Given the description of an element on the screen output the (x, y) to click on. 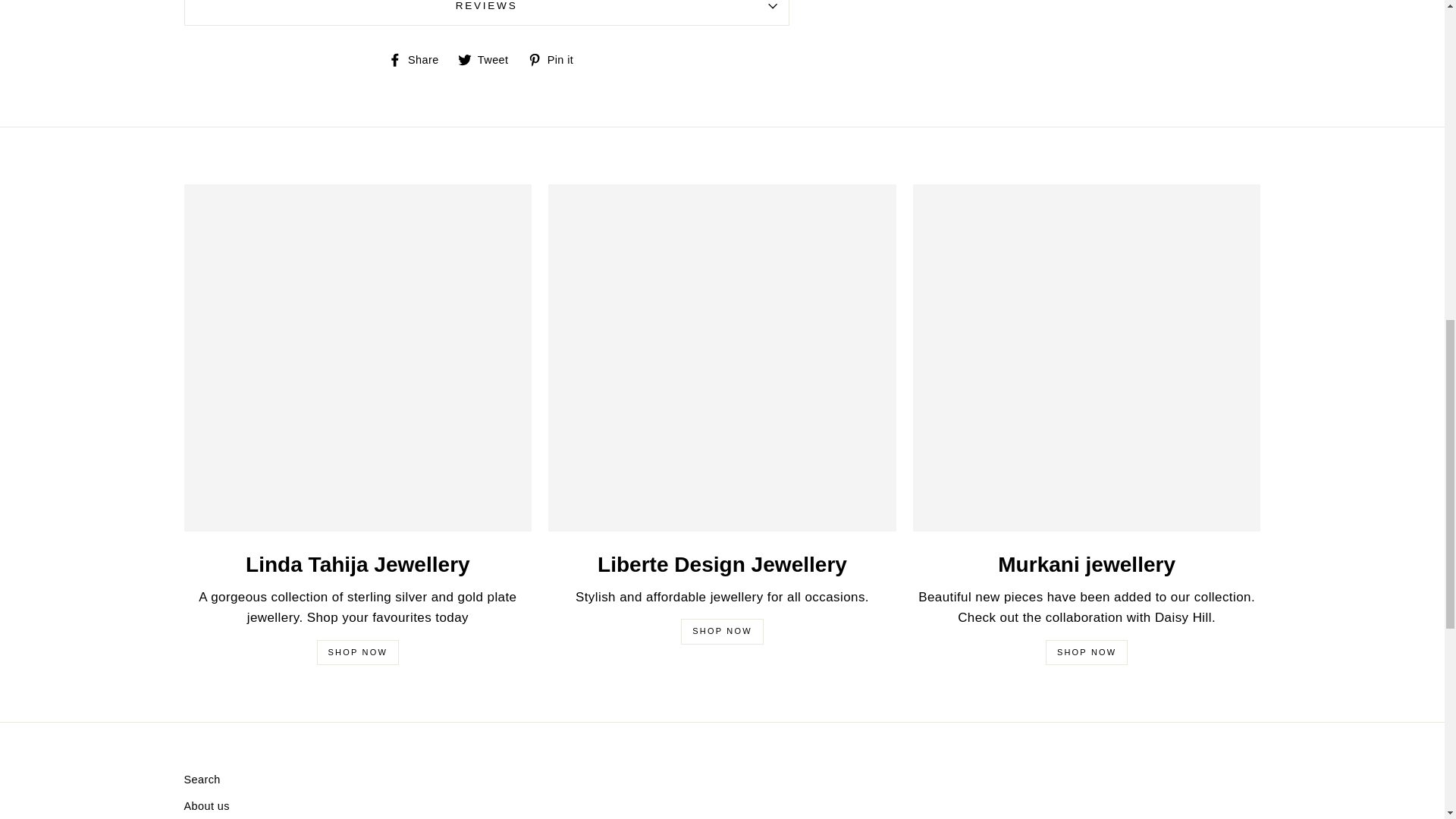
Tweet on Twitter (488, 59)
Pin on Pinterest (556, 59)
Share on Facebook (418, 59)
